Given the description of an element on the screen output the (x, y) to click on. 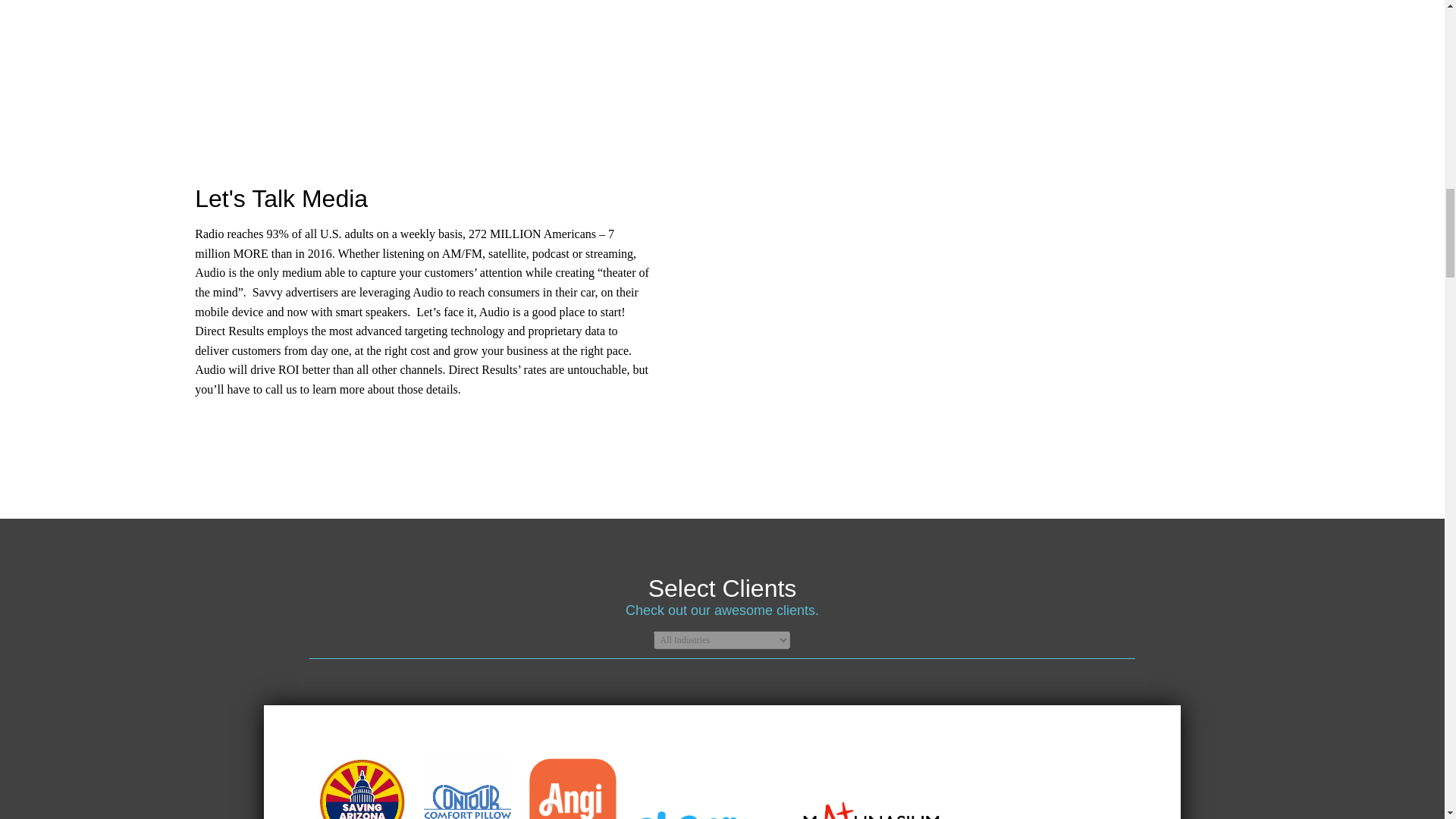
LINK UP (838, 18)
